Given the description of an element on the screen output the (x, y) to click on. 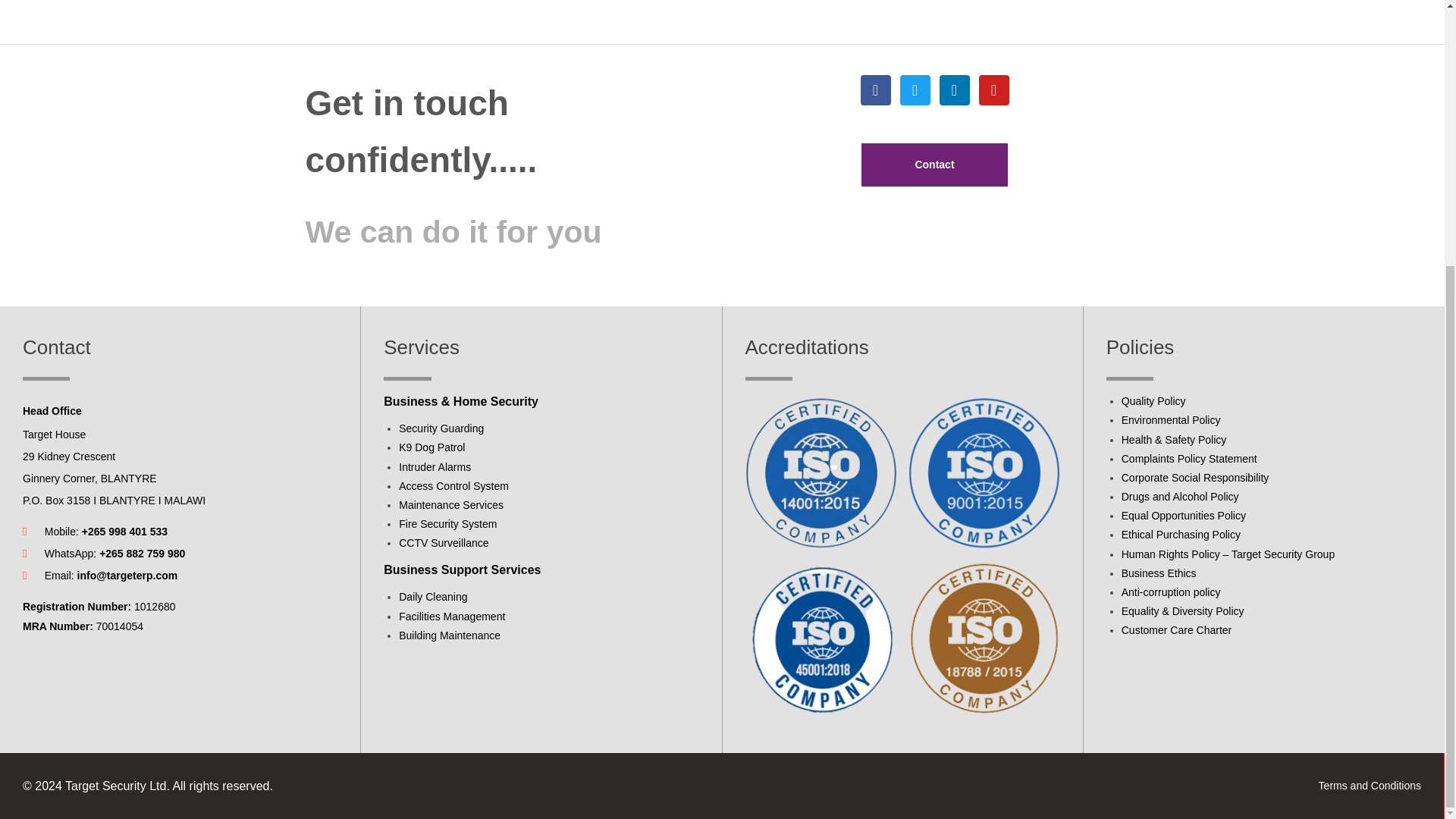
Contact (934, 164)
K9 Dog Patrol (431, 447)
CCTV Surveillance (442, 542)
Security Guarding (440, 428)
Maintenance Services (450, 504)
Access Control System (453, 485)
Daily Cleaning (432, 596)
Facilities Management (451, 616)
Building Maintenance (449, 635)
Intruder Alarms (434, 467)
